Given the description of an element on the screen output the (x, y) to click on. 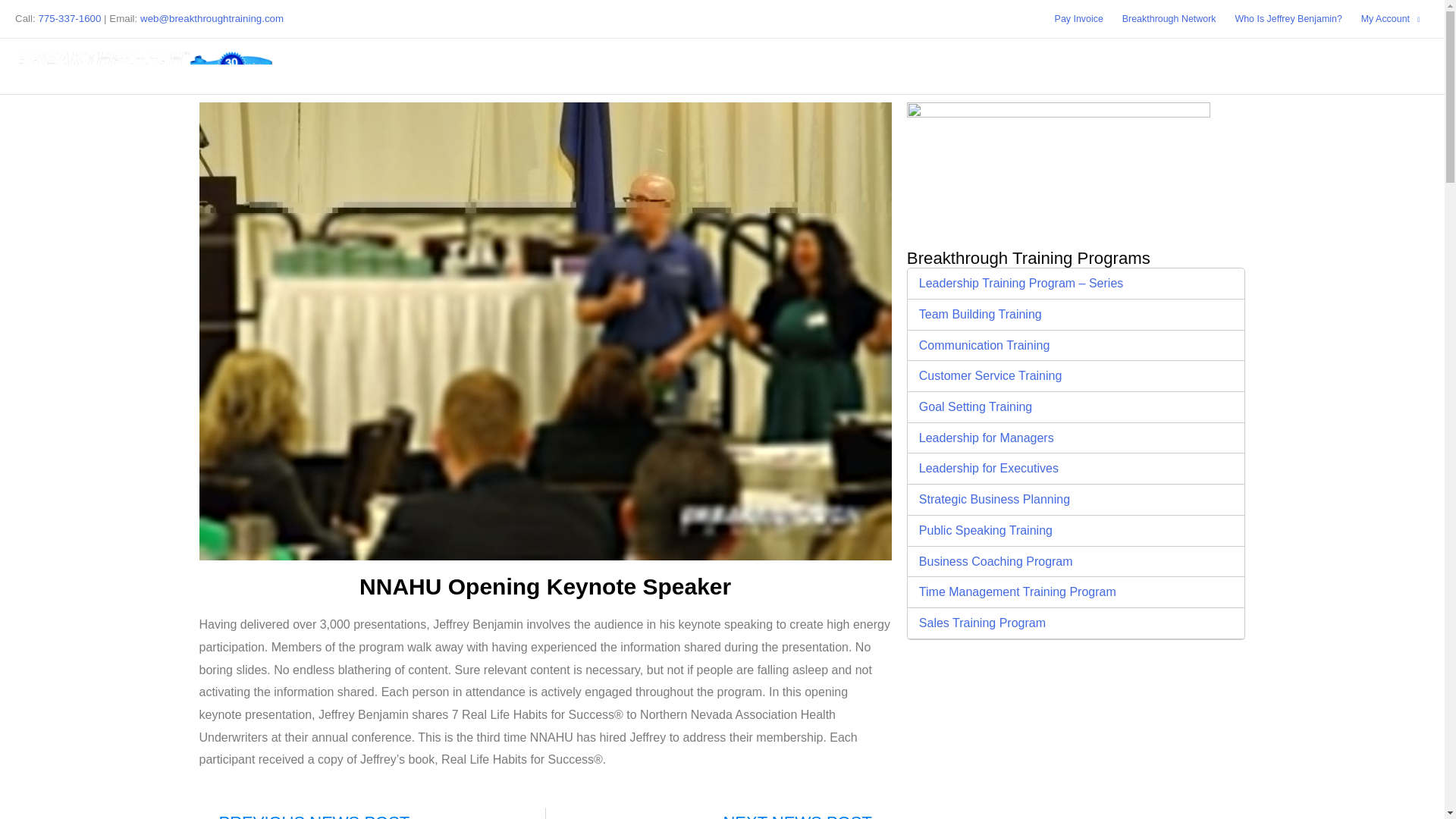
Products (1200, 65)
Breakthrough Network (1168, 18)
Home (850, 65)
Resources (1292, 65)
My Account (1390, 18)
News (907, 65)
Who Is Jeffrey Benjamin? (1288, 18)
Training Programs (1085, 65)
775-337-1600 (68, 18)
Pay Invoice (1078, 18)
